Given the description of an element on the screen output the (x, y) to click on. 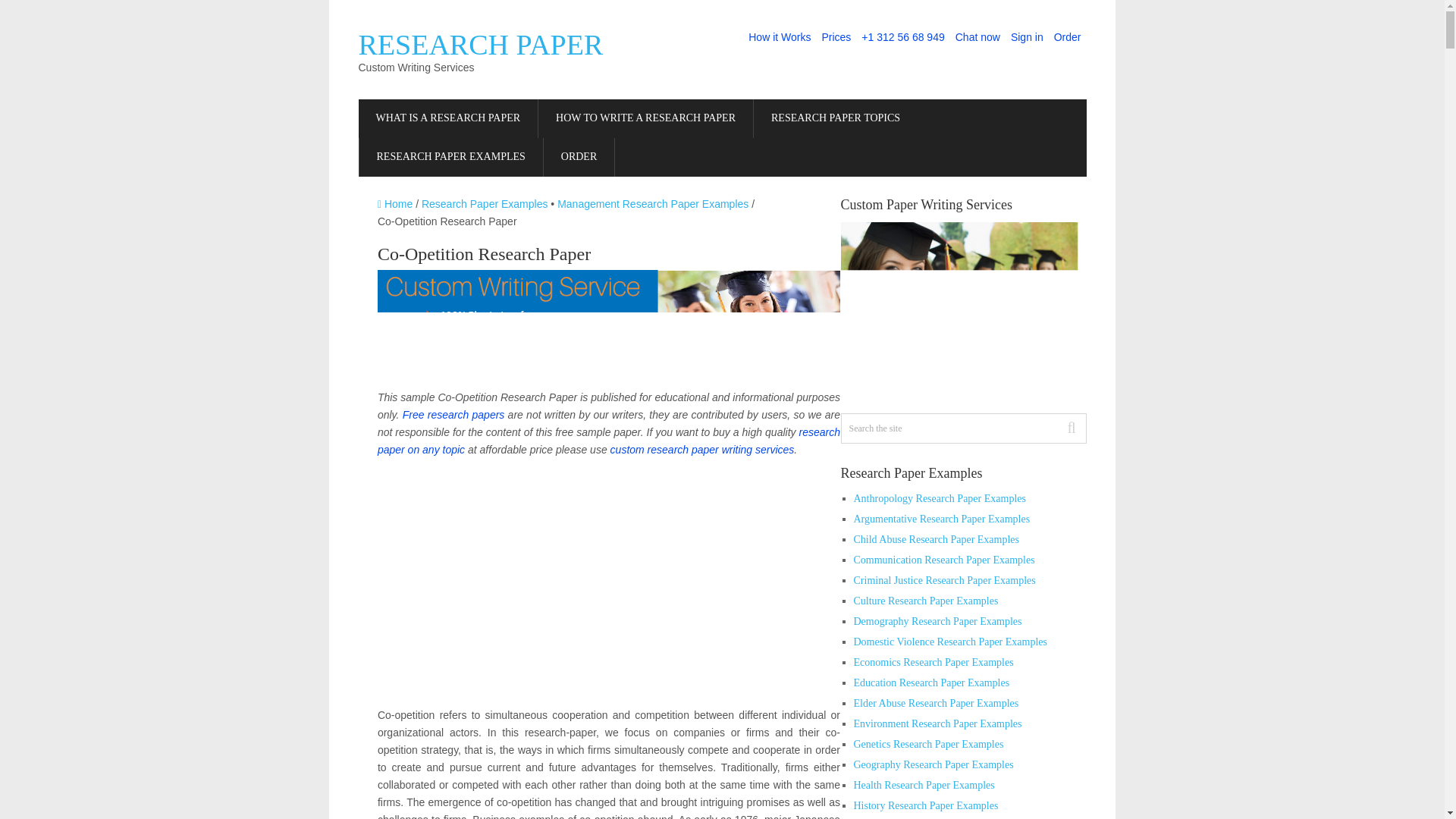
ORDER (578, 157)
research paper on any topic (608, 440)
RESEARCH PAPER TOPICS (835, 118)
Prices (835, 37)
Order (1067, 37)
RESEARCH PAPER (480, 44)
Sign in (1027, 37)
Buy Custom Research Paper (578, 157)
How it Works (778, 37)
Management Research Paper Examples (652, 203)
Chat now (978, 37)
Free research papers (454, 414)
HOW TO WRITE A RESEARCH PAPER (645, 118)
Research Paper Examples (485, 203)
custom research paper writing services (702, 449)
